Given the description of an element on the screen output the (x, y) to click on. 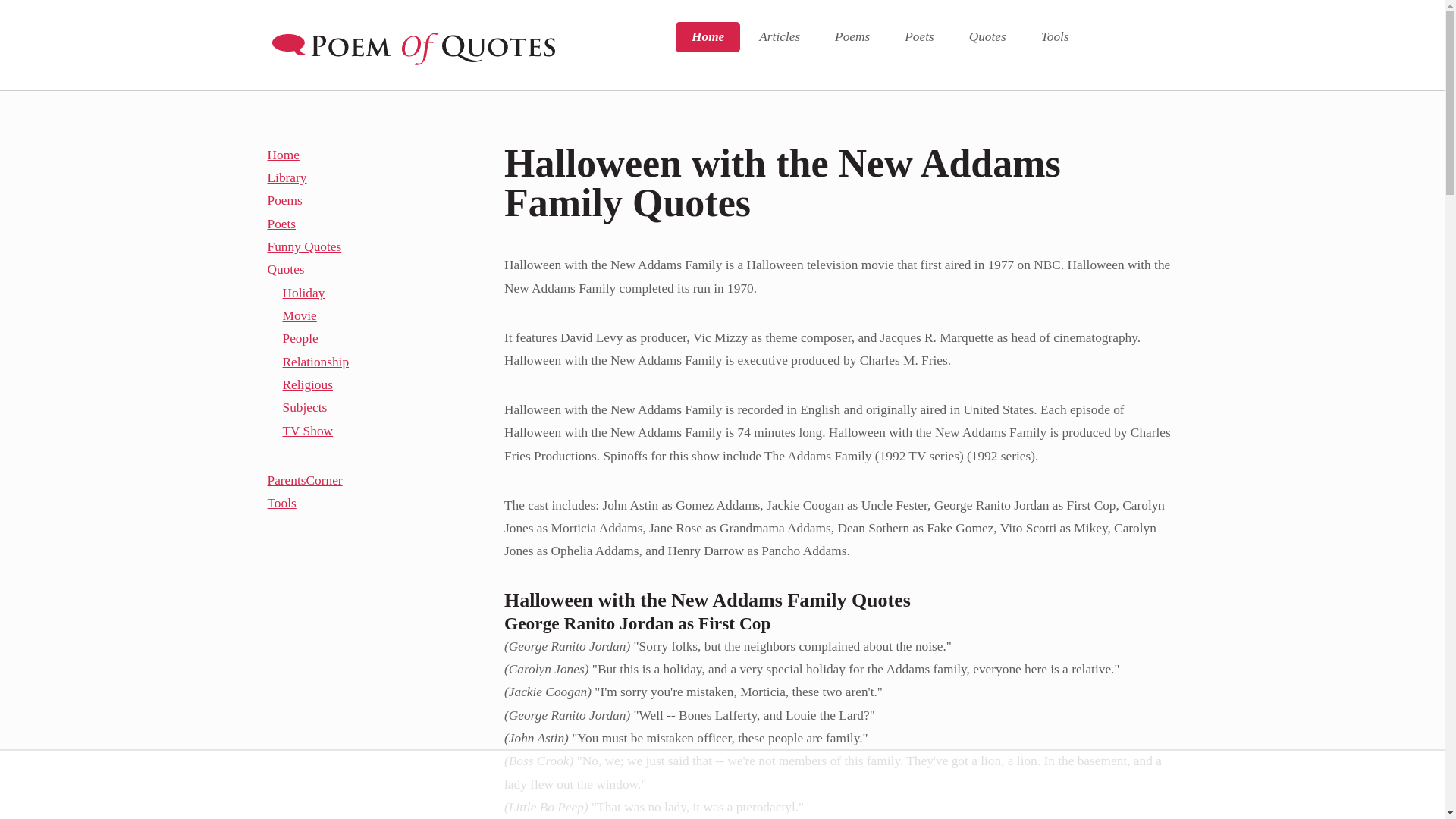
Quotes (987, 37)
Poets (918, 37)
Articles (778, 37)
Home (707, 37)
Poems (851, 37)
